Given the description of an element on the screen output the (x, y) to click on. 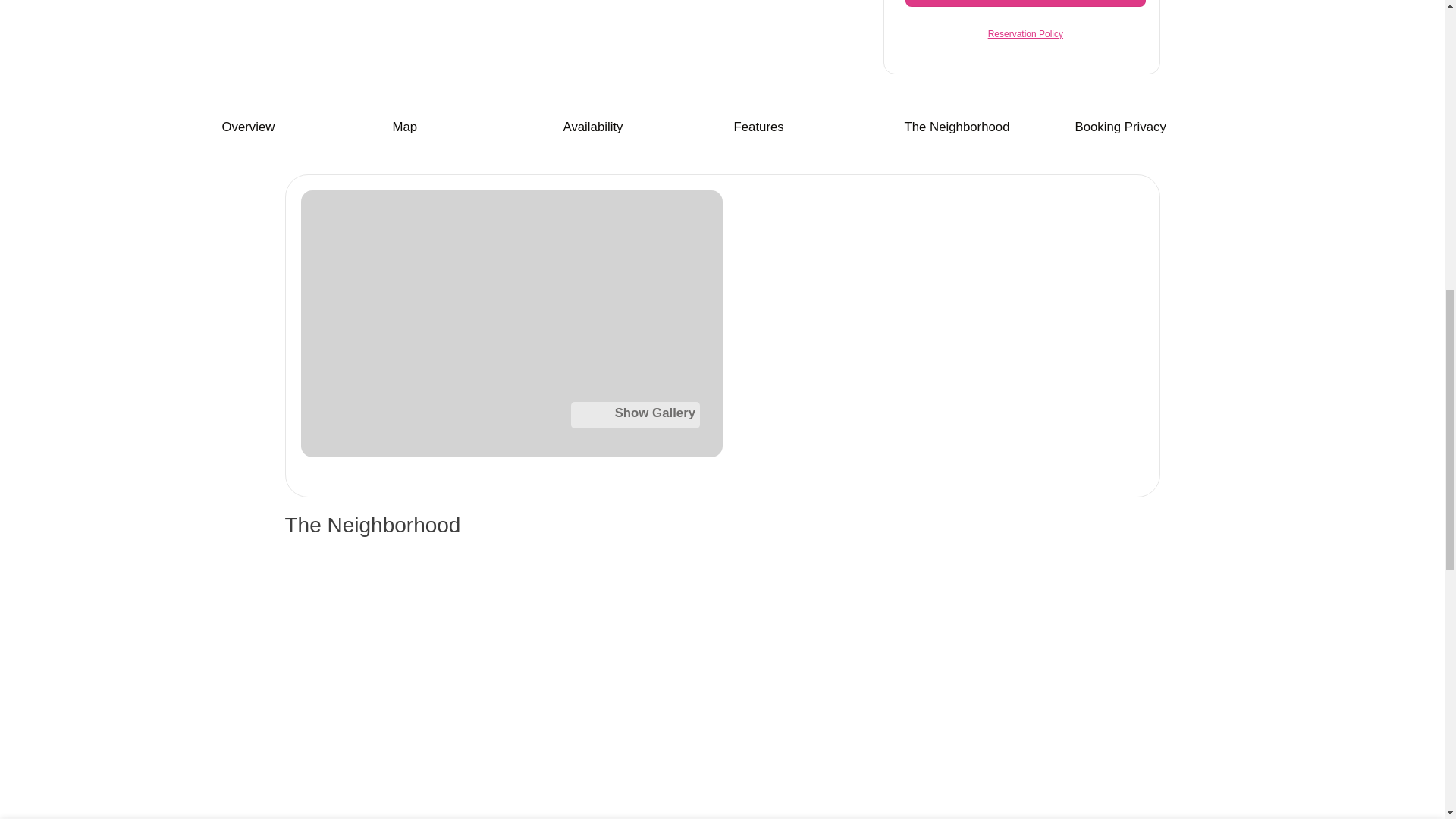
Booking Privacy (1120, 126)
Availability (592, 126)
Show Gallery (510, 335)
Overview (248, 126)
Reservation Policy (1024, 32)
The Neighborhood (956, 126)
Map (405, 126)
ASK FOR QUOTATION (1025, 2)
Features (758, 126)
